Given the description of an element on the screen output the (x, y) to click on. 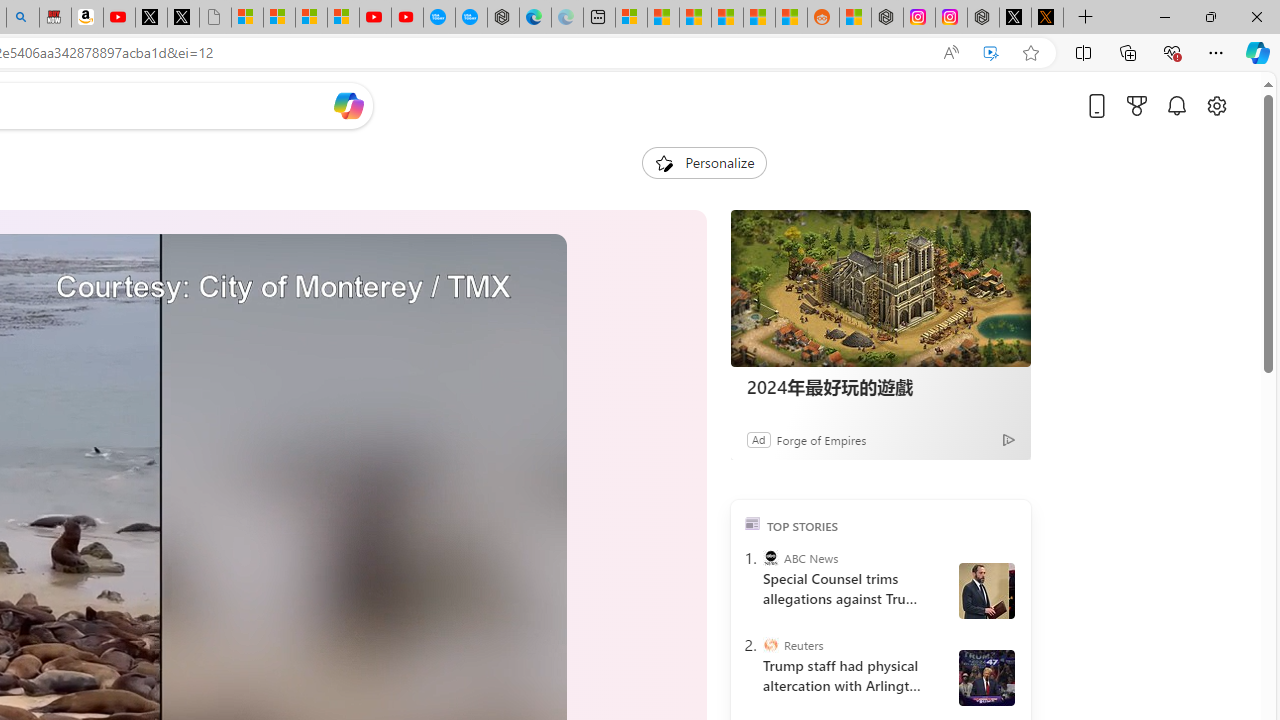
Forge of Empires (820, 439)
Personalize (703, 162)
Microsoft account | Microsoft Account Privacy Settings (630, 17)
